Given the description of an element on the screen output the (x, y) to click on. 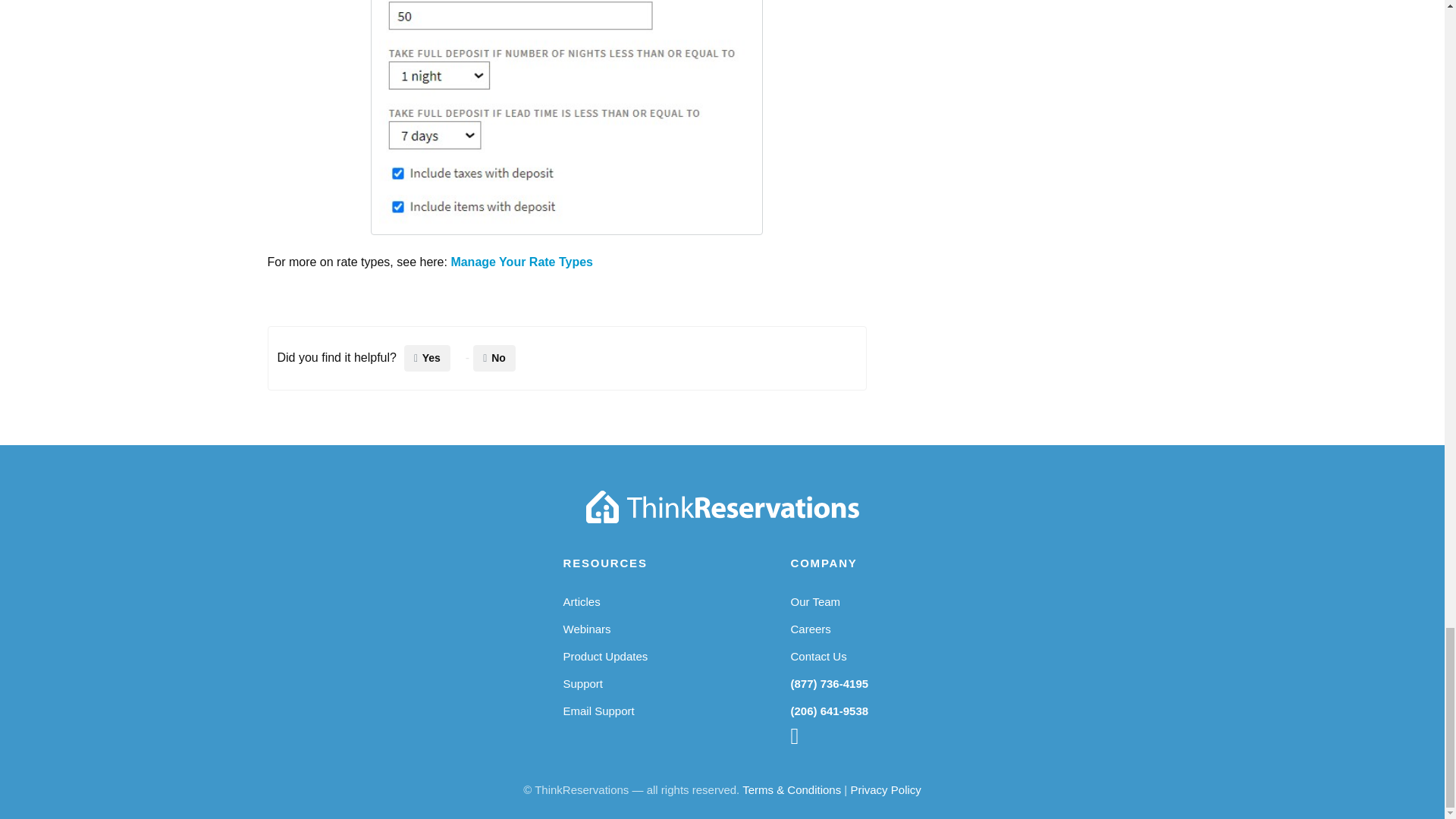
Manage Your Rate Types (520, 261)
